Given the description of an element on the screen output the (x, y) to click on. 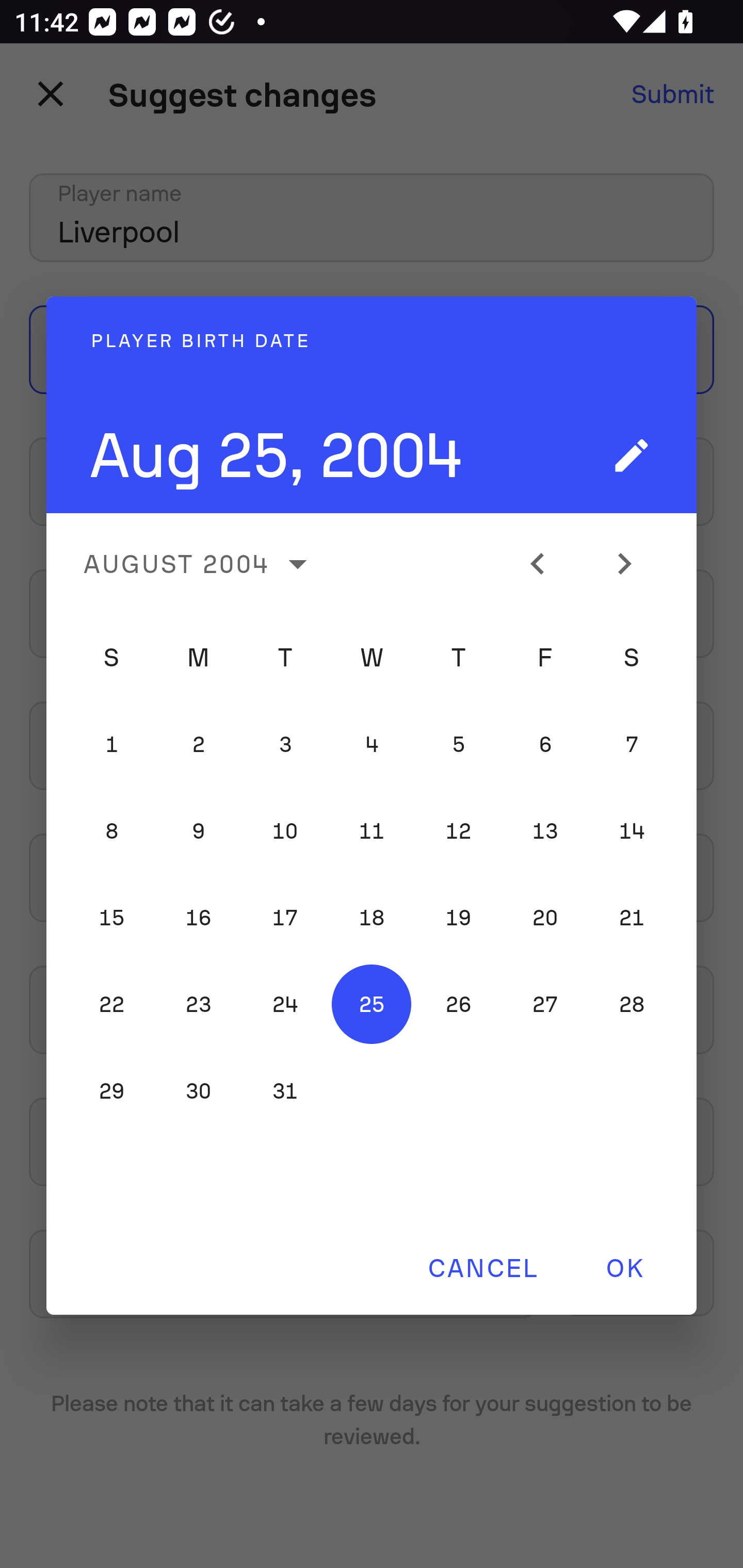
Switch to text input mode (631, 455)
AUGUST 2004 (200, 563)
Change to previous month (544, 563)
Change to next month (631, 563)
1 Sunday, August 1, 2004 (111, 743)
2 Monday, August 2, 2004 (197, 743)
3 Tuesday, August 3, 2004 (284, 743)
4 Wednesday, August 4, 2004 (371, 743)
5 Thursday, August 5, 2004 (457, 743)
6 Friday, August 6, 2004 (544, 743)
7 Saturday, August 7, 2004 (631, 743)
8 Sunday, August 8, 2004 (111, 830)
9 Monday, August 9, 2004 (197, 830)
10 Tuesday, August 10, 2004 (284, 830)
11 Wednesday, August 11, 2004 (371, 830)
12 Thursday, August 12, 2004 (457, 830)
13 Friday, August 13, 2004 (544, 830)
14 Saturday, August 14, 2004 (631, 830)
15 Sunday, August 15, 2004 (111, 917)
16 Monday, August 16, 2004 (197, 917)
17 Tuesday, August 17, 2004 (284, 917)
18 Wednesday, August 18, 2004 (371, 917)
19 Thursday, August 19, 2004 (457, 917)
20 Friday, August 20, 2004 (544, 917)
21 Saturday, August 21, 2004 (631, 917)
22 Sunday, August 22, 2004 (111, 1004)
23 Monday, August 23, 2004 (197, 1004)
24 Tuesday, August 24, 2004 (284, 1004)
25 Wednesday, August 25, 2004 (371, 1004)
26 Thursday, August 26, 2004 (457, 1004)
27 Friday, August 27, 2004 (544, 1004)
28 Saturday, August 28, 2004 (631, 1004)
29 Sunday, August 29, 2004 (111, 1090)
30 Monday, August 30, 2004 (197, 1090)
31 Tuesday, August 31, 2004 (284, 1090)
CANCEL (482, 1267)
OK (624, 1267)
